Given the description of an element on the screen output the (x, y) to click on. 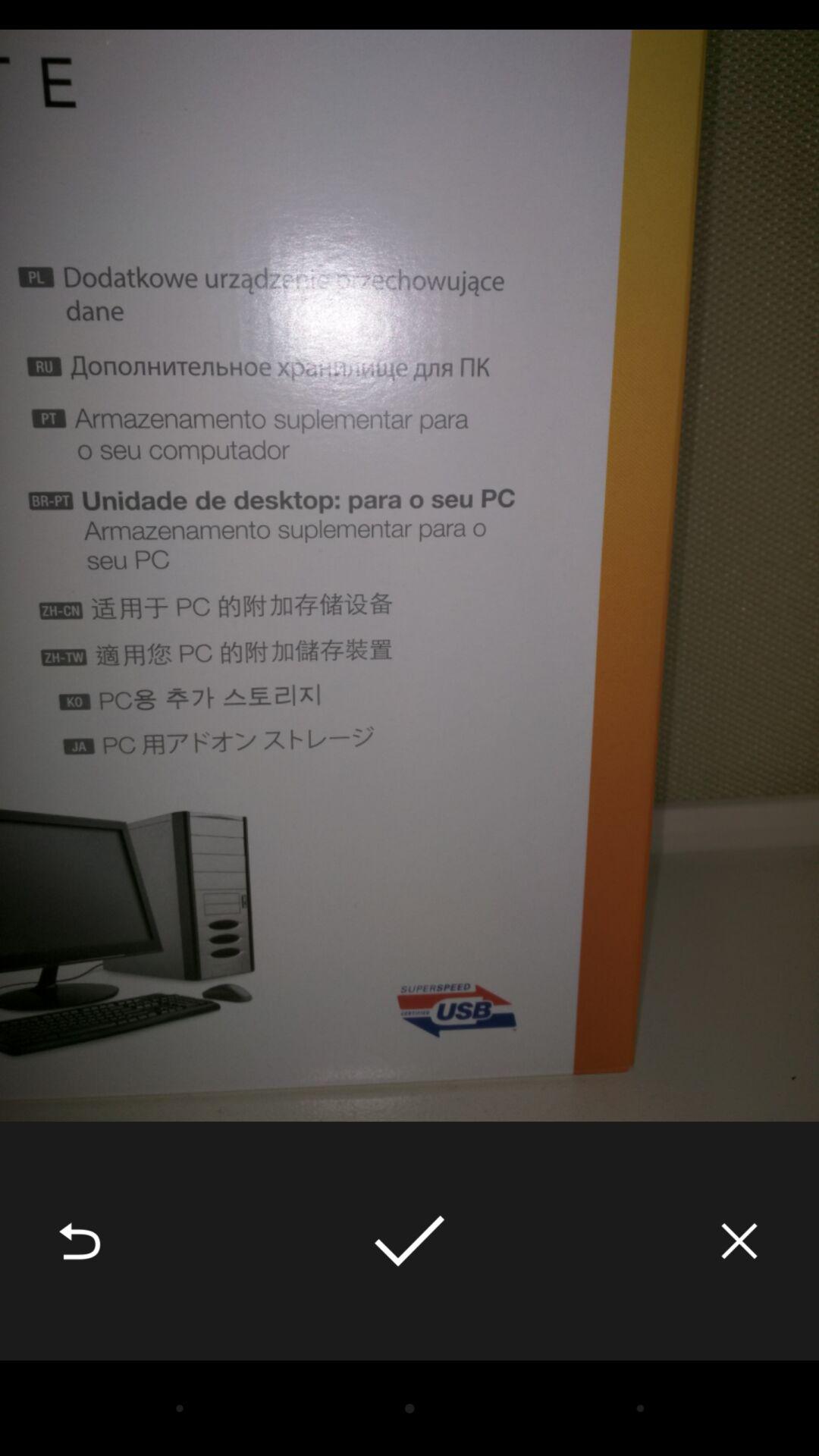
click icon at the bottom left corner (79, 1240)
